Given the description of an element on the screen output the (x, y) to click on. 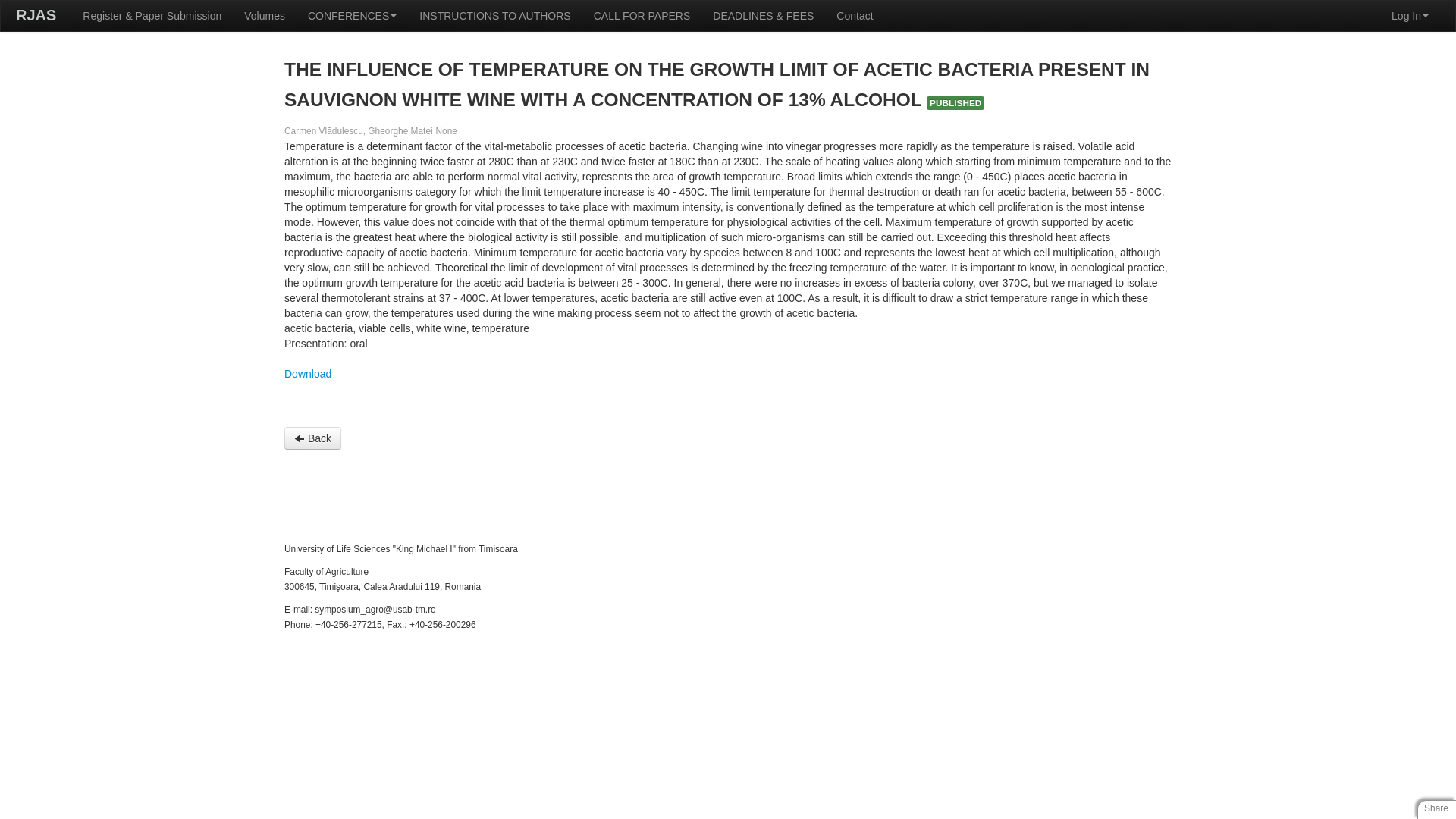
INSTRUCTIONS TO AUTHORS (493, 15)
CALL FOR PAPERS (641, 15)
Log In (1409, 15)
Back (311, 437)
CONFERENCES (352, 15)
RJAS (36, 15)
Volumes (264, 15)
Download (307, 373)
Contact (854, 15)
